Given the description of an element on the screen output the (x, y) to click on. 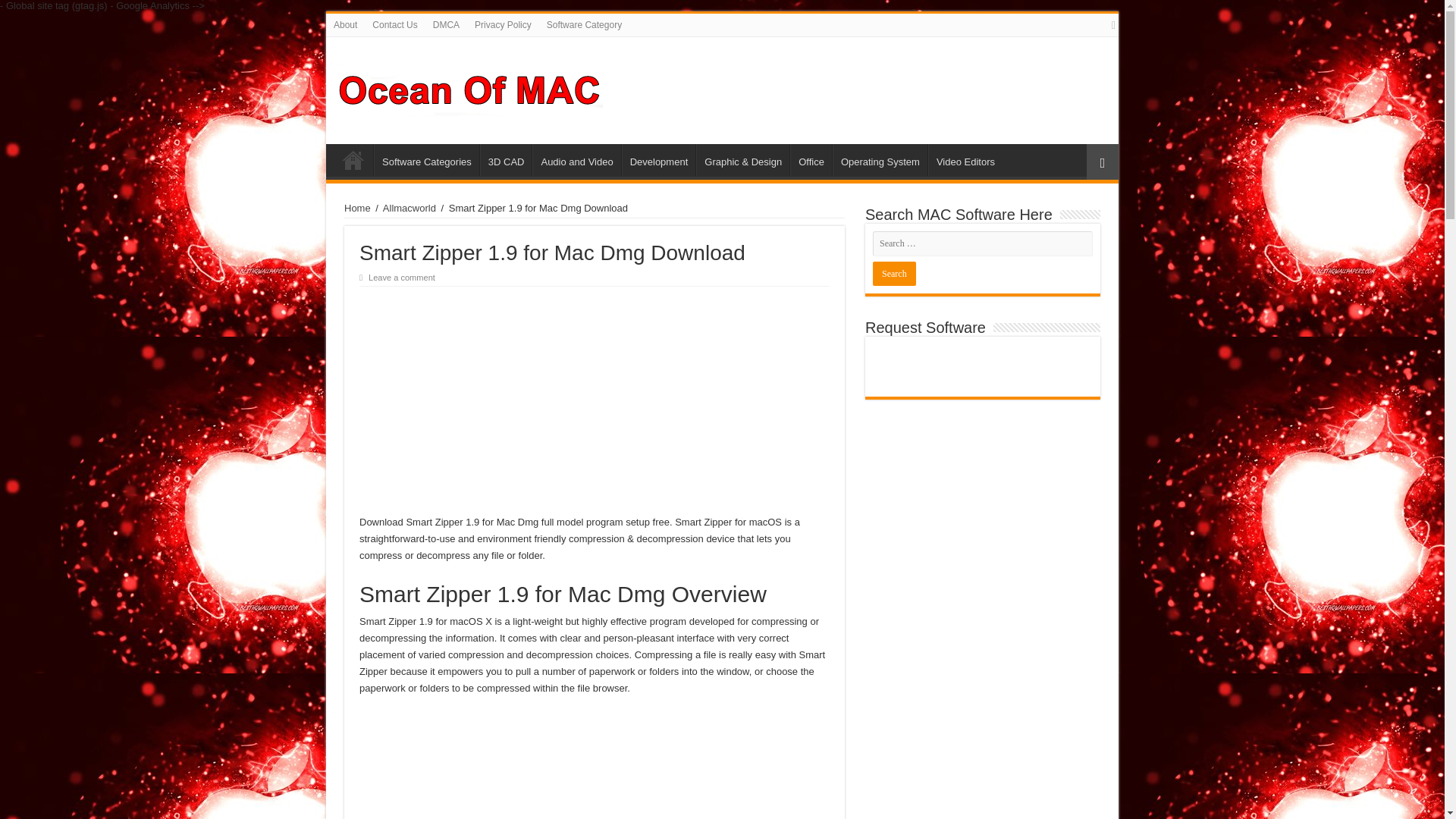
Search (893, 273)
DMCA (446, 24)
Random Article (1102, 161)
Ocean Of Mac (469, 87)
Home (352, 160)
Audio and Video (576, 160)
Leave a comment (401, 276)
Software Categories (426, 160)
3D CAD (506, 160)
Privacy Policy (502, 24)
